Given the description of an element on the screen output the (x, y) to click on. 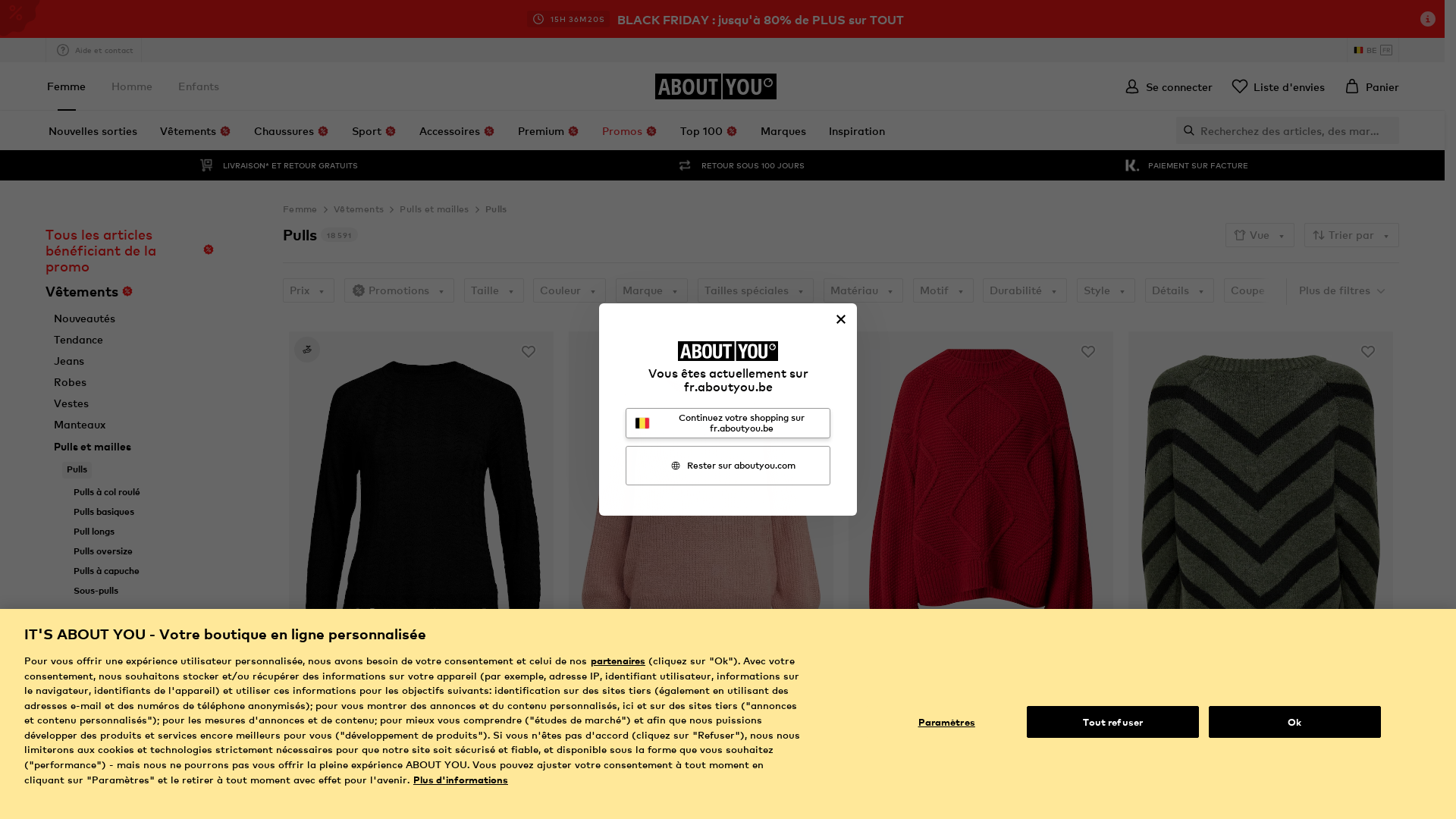
BE
FR Element type: text (1372, 49)
Marque Element type: text (651, 290)
Ok Element type: text (1294, 721)
Couleur Element type: text (569, 290)
Homme Element type: text (131, 86)
Blazers Element type: text (72, 741)
Pulls basiques Element type: text (103, 511)
Motif Element type: text (943, 290)
Premium Element type: text (548, 130)
Se connecter Element type: text (1167, 86)
Tendance Element type: text (78, 339)
Pulls et mailles Element type: text (433, 208)
RETOUR SOUS 100 JOURS Element type: text (739, 165)
Enfants Element type: text (198, 86)
Manteaux Element type: text (79, 424)
Jupes Element type: text (68, 762)
Lingerie Element type: text (74, 783)
Trier par Element type: text (1351, 234)
Femme Element type: text (299, 208)
Pulls oversize Element type: text (102, 551)
LIVRAISON* ET RETOUR GRATUITS Element type: text (277, 165)
Accessoires Element type: text (457, 130)
Blouses et tuniques Element type: text (103, 720)
Femme Element type: text (66, 86)
Plus d'informations Element type: text (460, 778)
Ponchos et Kimonos Element type: text (110, 633)
Prix Element type: text (308, 290)
Taille Element type: text (494, 290)
Style Element type: text (1105, 290)
Coupe Element type: text (1256, 290)
Promotions Element type: text (399, 290)
Longueur Element type: text (1339, 290)
Robes Element type: text (69, 381)
Sous-pulls Element type: text (95, 590)
Sport Element type: text (373, 130)
ABOUT
YOU Element type: text (715, 86)
Aide et contact Element type: text (93, 49)
Mailles Element type: text (81, 613)
Pulls Element type: text (496, 208)
Chaussures Element type: text (291, 130)
Liste d'envies Element type: text (1277, 86)
Marques Element type: text (783, 130)
Panier Element type: text (1371, 86)
Vue Element type: text (1259, 234)
Jeans Element type: text (68, 360)
Maillots de bain Element type: text (95, 804)
Tout refuser Element type: text (1112, 721)
Promos Element type: text (629, 130)
Continuez votre shopping sur fr.aboutyou.be Element type: text (727, 422)
Rester sur aboutyou.com Element type: text (727, 465)
Vestes Element type: text (70, 403)
Top 100 Element type: text (708, 130)
Pulls et mailles Element type: text (92, 445)
T-shirts et tops Element type: text (93, 698)
Nouvelles sorties Element type: text (92, 130)
Pull longs Element type: text (93, 531)
Pantalons Element type: text (79, 656)
Plus de filtres Element type: text (1342, 290)
Sweats Element type: text (72, 677)
partenaires Element type: text (617, 659)
Pulls Element type: text (76, 469)
PAIEMENT SUR FACTURE Element type: text (1184, 165)
